Given the description of an element on the screen output the (x, y) to click on. 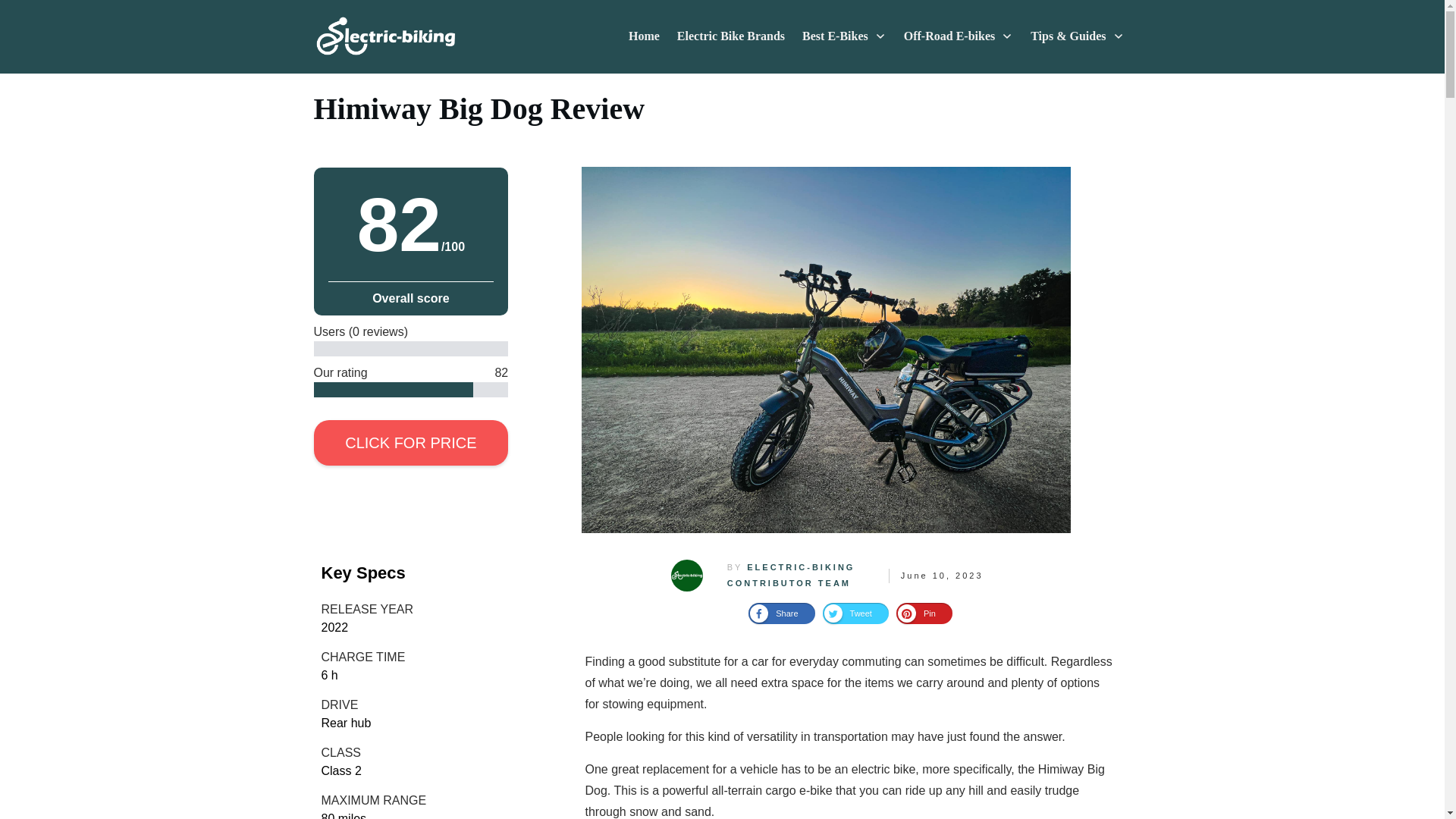
CLICK FOR PRICE (411, 443)
Himiway Big Dog Review (479, 108)
Off-Road E-bikes (958, 36)
Himiway Big Dog Review (479, 108)
Jake Galloway (685, 575)
Electric Bike Brands (730, 36)
Tweet (855, 613)
Pin (924, 613)
Home (643, 36)
Share (780, 613)
Best E-Bikes (844, 36)
ELECTRIC-BIKING CONTRIBUTOR TEAM (791, 575)
